Given the description of an element on the screen output the (x, y) to click on. 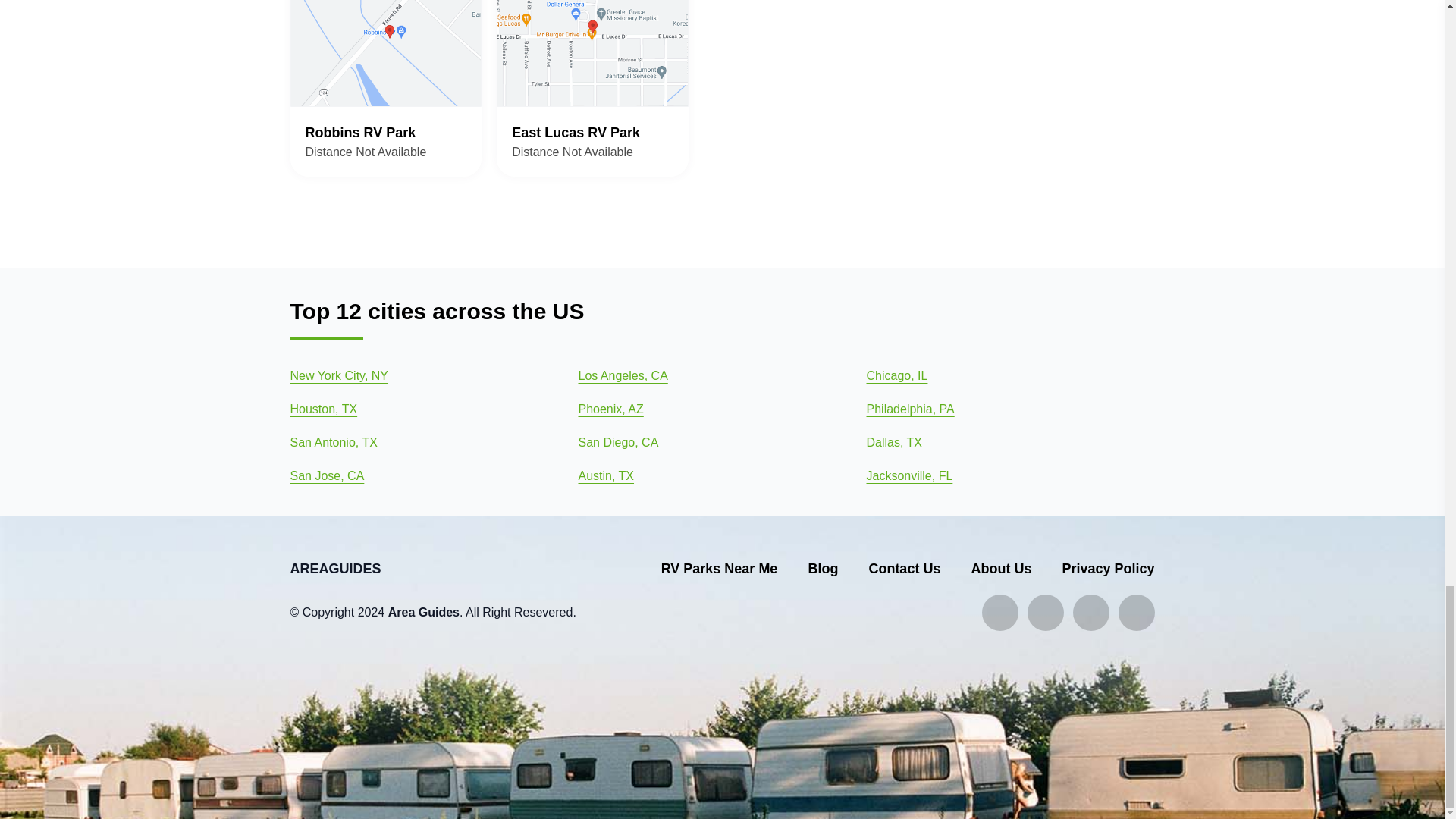
Philadelphia, PA (909, 408)
Houston, TX (322, 408)
New York City, NY (385, 88)
Phoenix, AZ (338, 374)
Chicago, IL (610, 408)
Los Angeles, CA (592, 88)
